Given the description of an element on the screen output the (x, y) to click on. 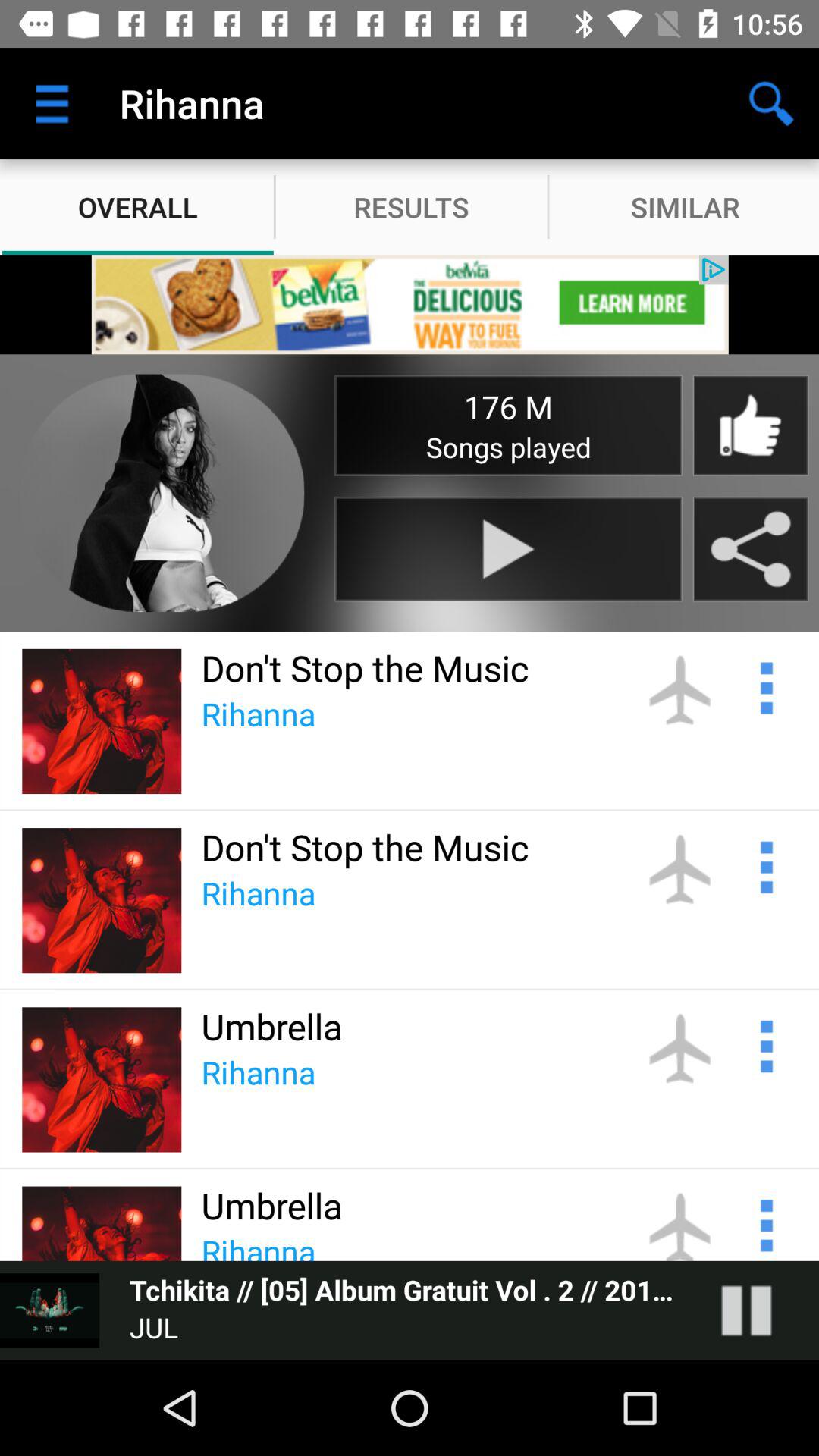
start the music (508, 548)
